Given the description of an element on the screen output the (x, y) to click on. 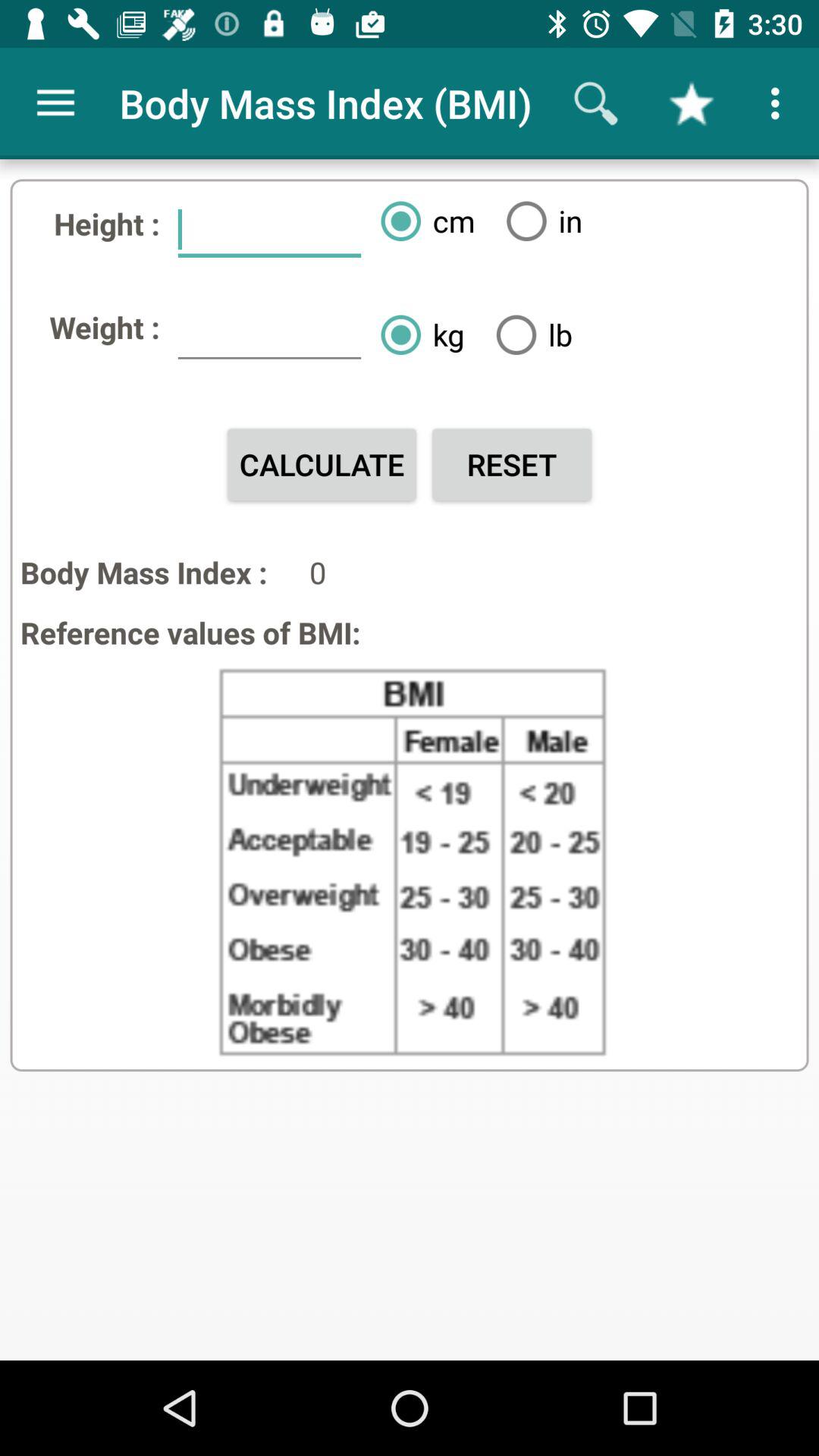
select the icon next to the in icon (421, 221)
